Given the description of an element on the screen output the (x, y) to click on. 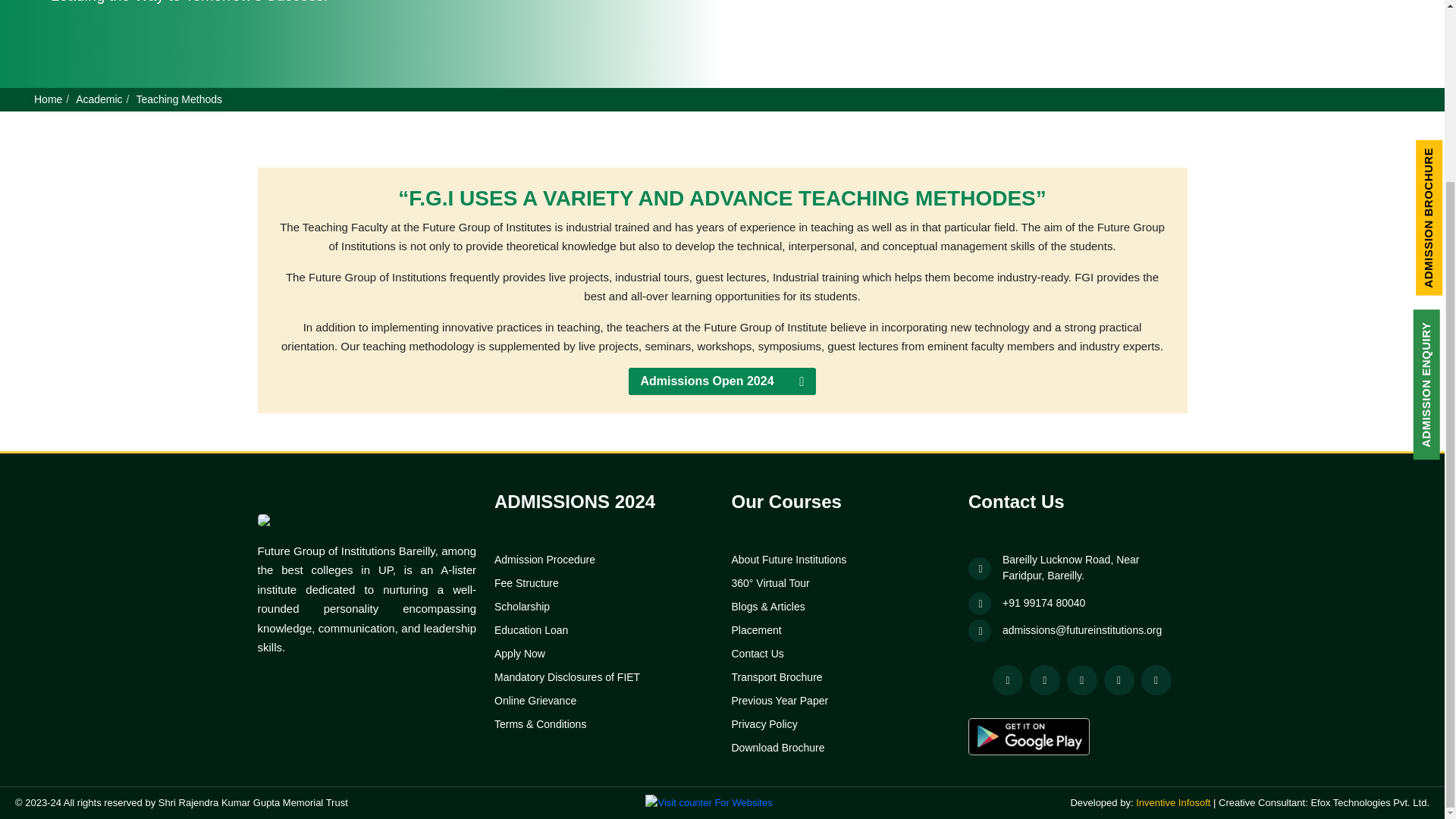
Download on Android (1028, 735)
Counter Widget (708, 802)
